Given the description of an element on the screen output the (x, y) to click on. 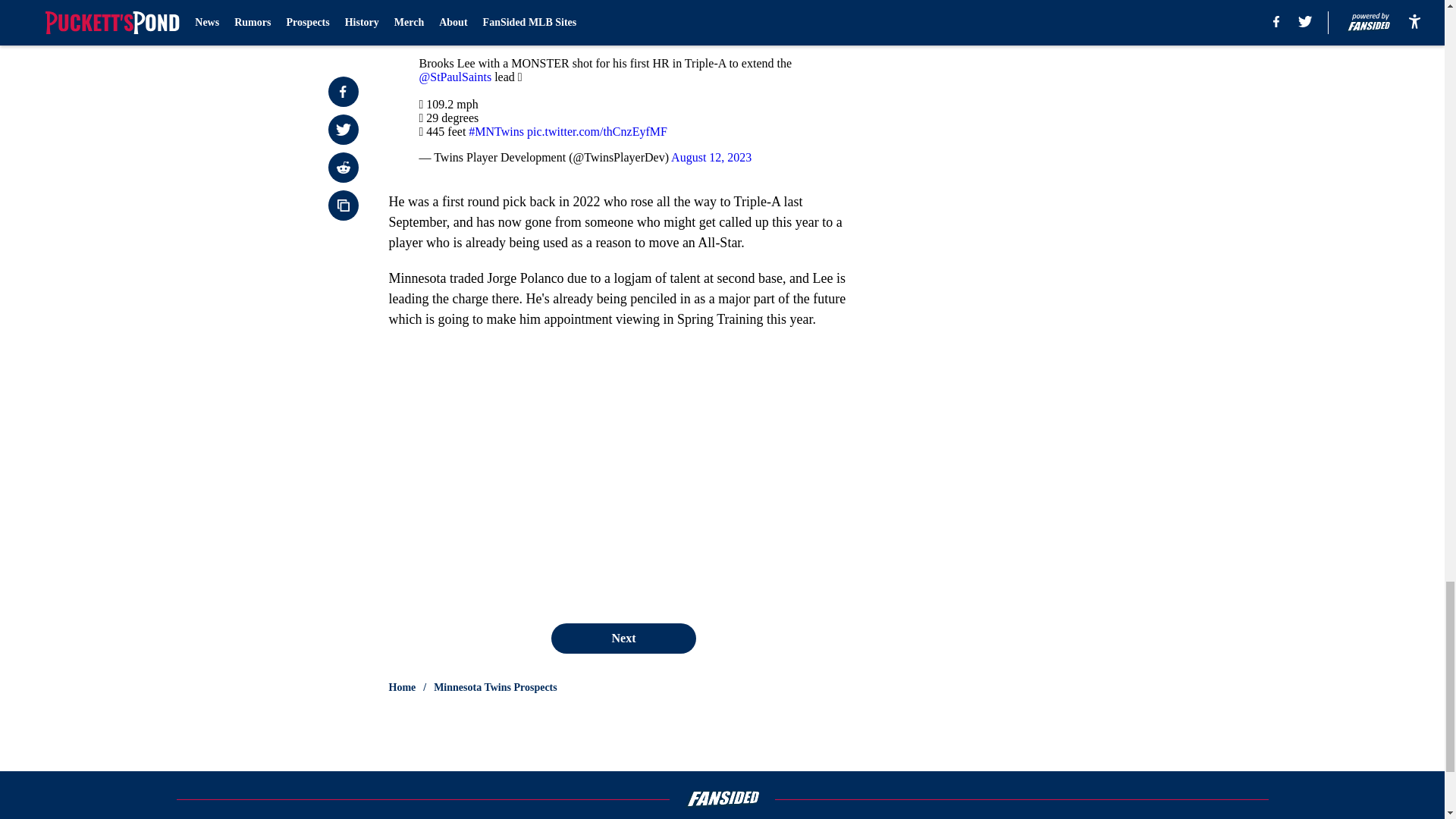
Minnesota Twins Prospects (495, 687)
Next (622, 638)
Home (401, 687)
August 12, 2023 (711, 156)
